Given the description of an element on the screen output the (x, y) to click on. 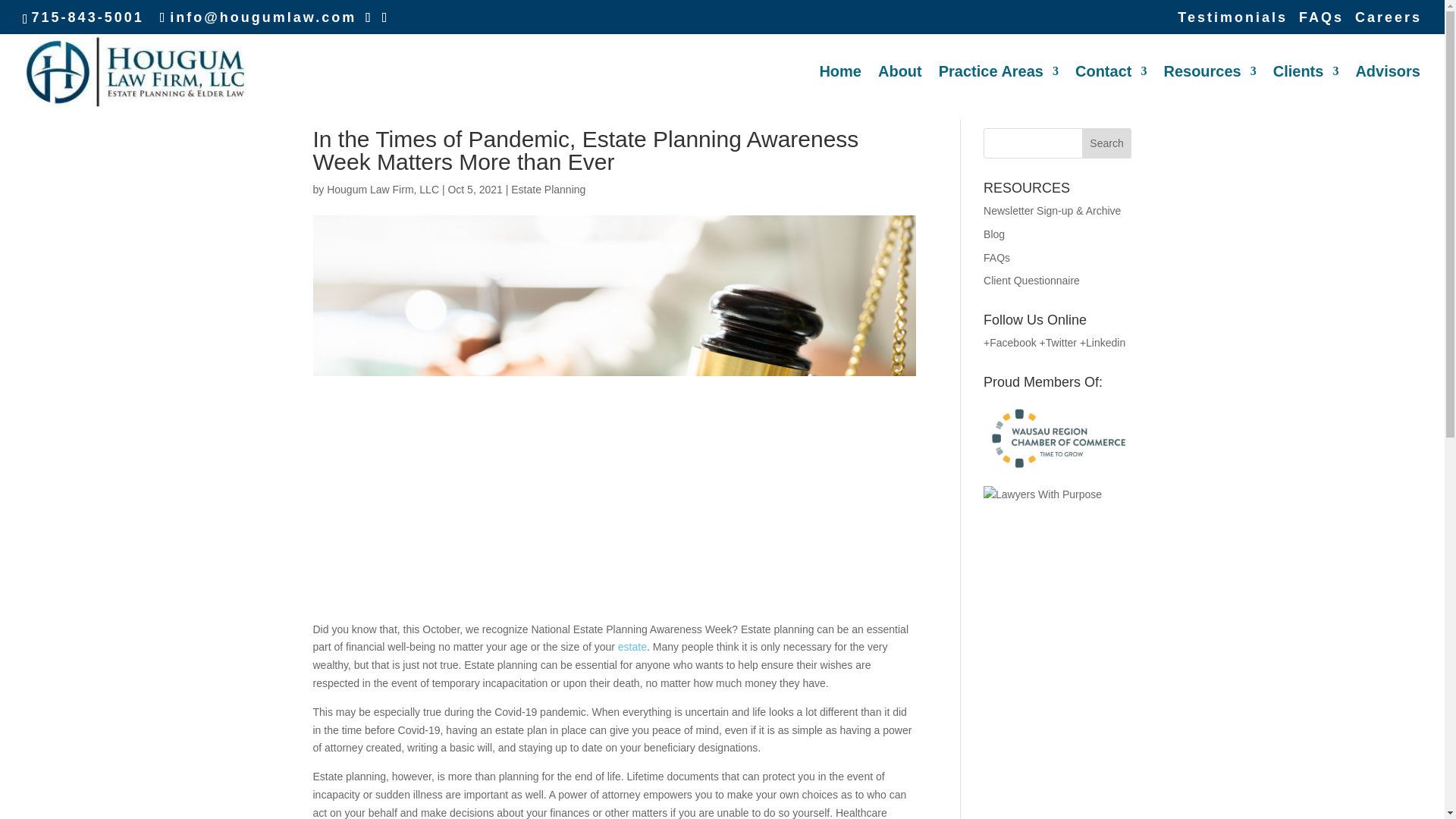
FAQs (997, 257)
Contact (1111, 92)
Practice Areas (998, 92)
Blog (994, 234)
estate (631, 646)
Resources (1209, 92)
FAQs (1320, 22)
Careers (1388, 22)
Search (1106, 142)
Hougum Law Firm, LLC (382, 189)
